Given the description of an element on the screen output the (x, y) to click on. 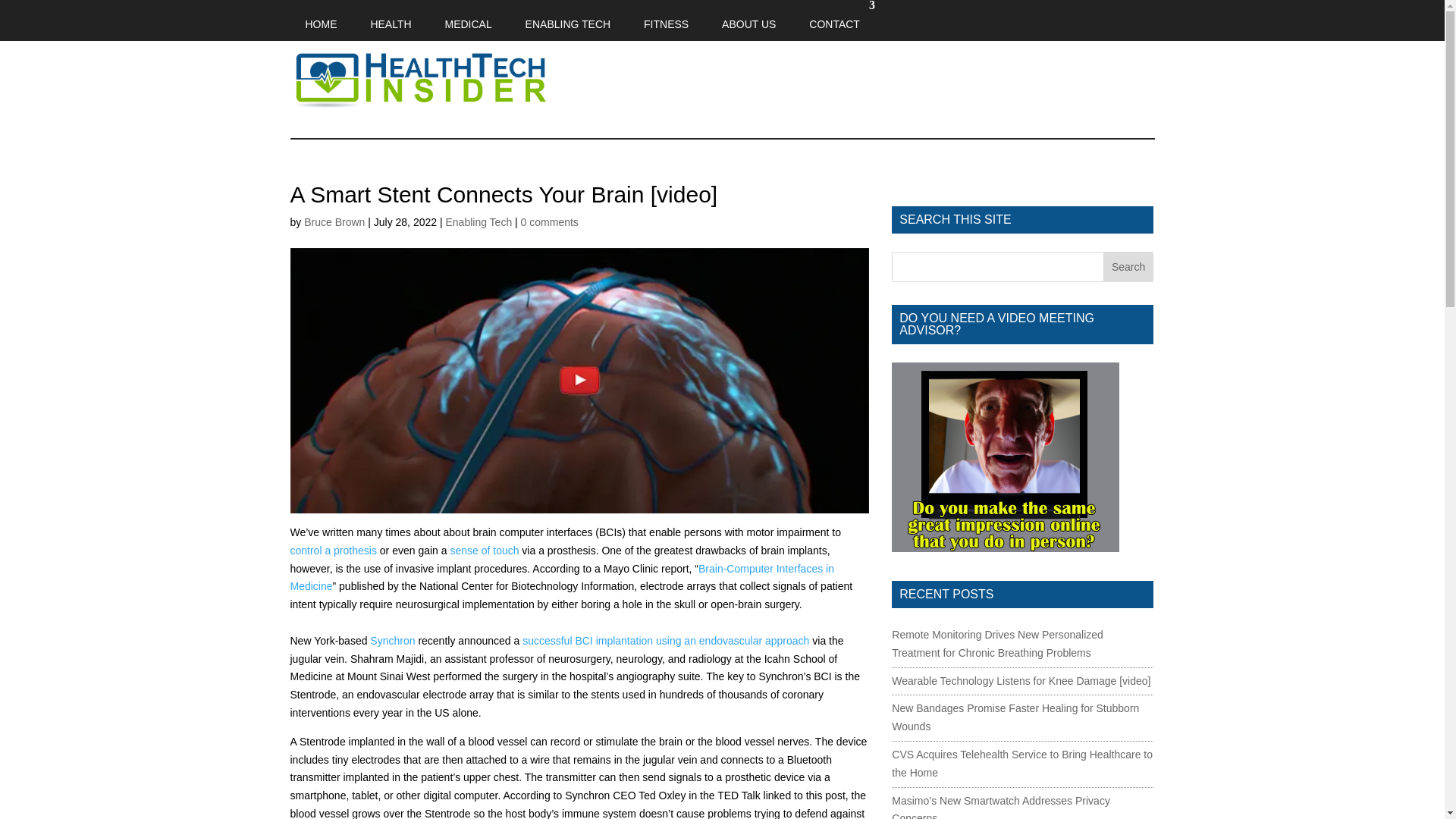
Search (1128, 266)
HEALTH (390, 20)
Bruce Brown (334, 222)
Synchron (391, 640)
Posts by Bruce Brown (334, 222)
CONTACT (834, 20)
HOME (320, 20)
control a prothesis (332, 550)
Search (1128, 266)
